Given the description of an element on the screen output the (x, y) to click on. 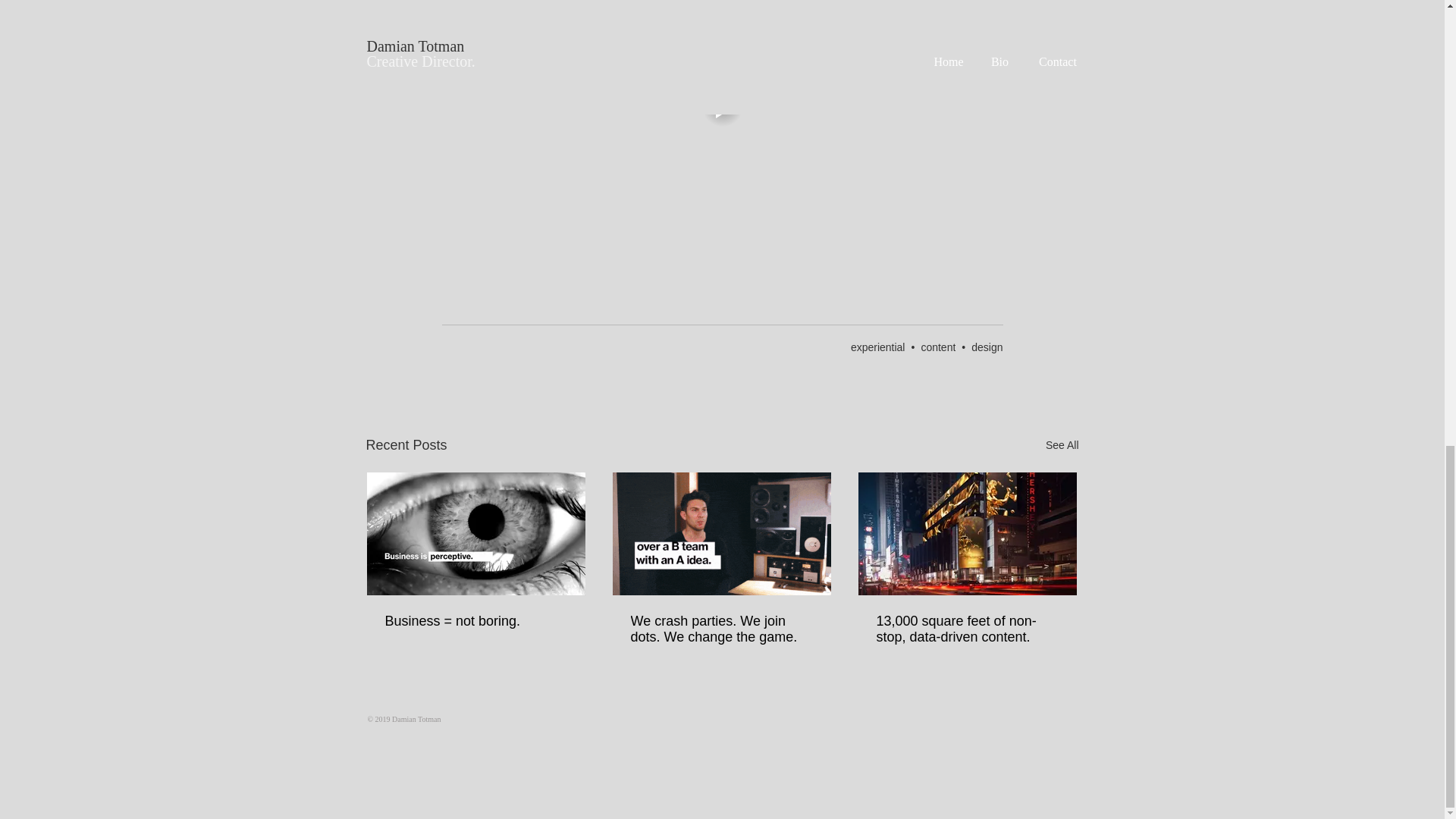
We crash parties. We join dots. We change the game. (721, 629)
See All (1061, 445)
experiential (877, 346)
content (937, 346)
13,000 square feet of non-stop, data-driven content. (967, 629)
design (987, 346)
